Given the description of an element on the screen output the (x, y) to click on. 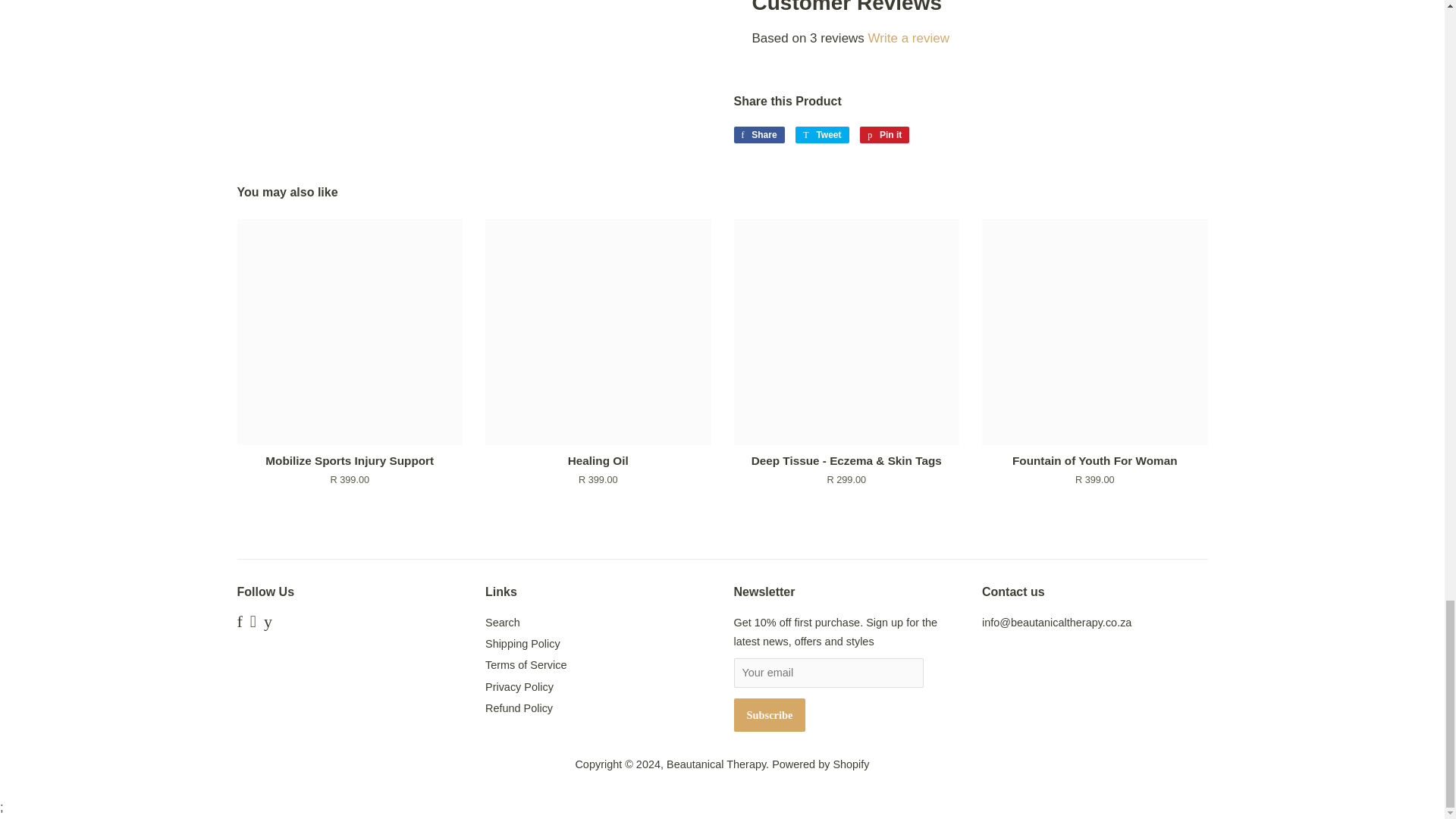
Pin on Pinterest (884, 134)
Tweet on Twitter (821, 134)
Subscribe (769, 715)
Share on Facebook (758, 134)
